Given the description of an element on the screen output the (x, y) to click on. 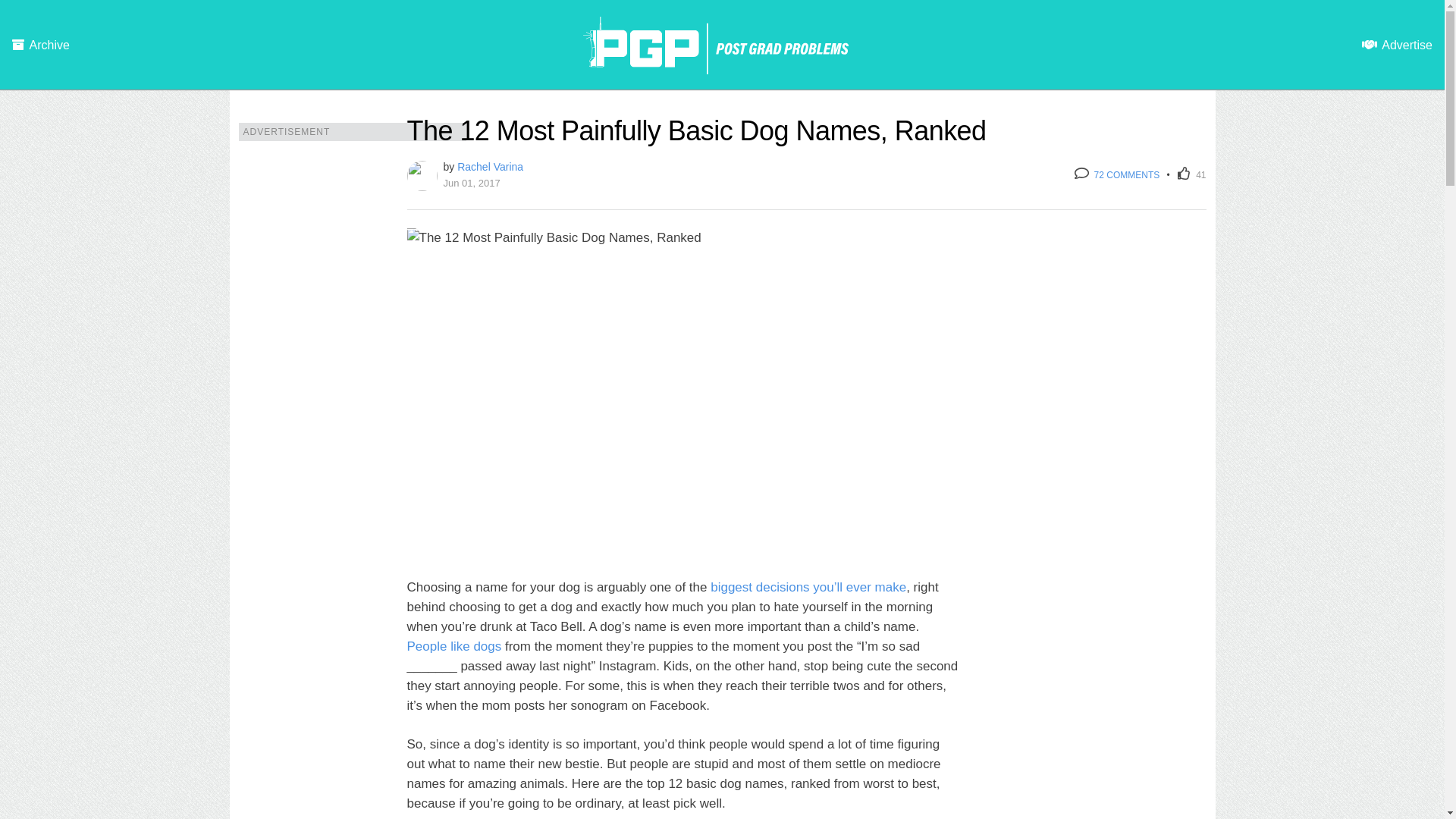
72 COMMENTS (1116, 174)
Posts by Rachel Varina (489, 166)
Rachel Varina (489, 166)
People like dogs (453, 645)
Advertise (1396, 45)
Archive (40, 45)
